Given the description of an element on the screen output the (x, y) to click on. 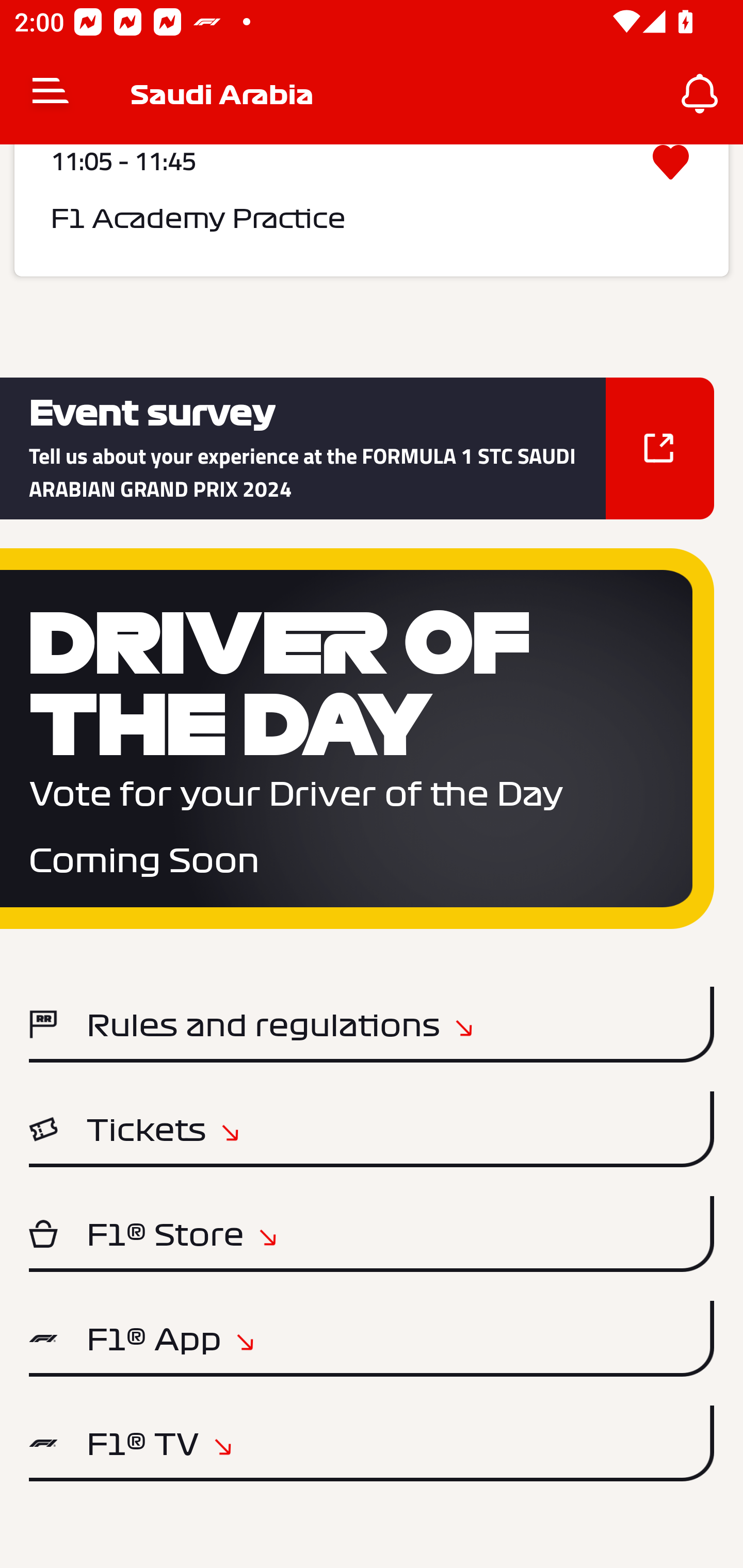
Navigate up (50, 93)
Notifications (699, 93)
11:05 - 11:45 F1 Academy Practice (371, 209)
Rules and regulations (371, 1024)
Tickets (371, 1128)
F1® Store (371, 1233)
F1® App (371, 1338)
F1® TV (371, 1442)
